Given the description of an element on the screen output the (x, y) to click on. 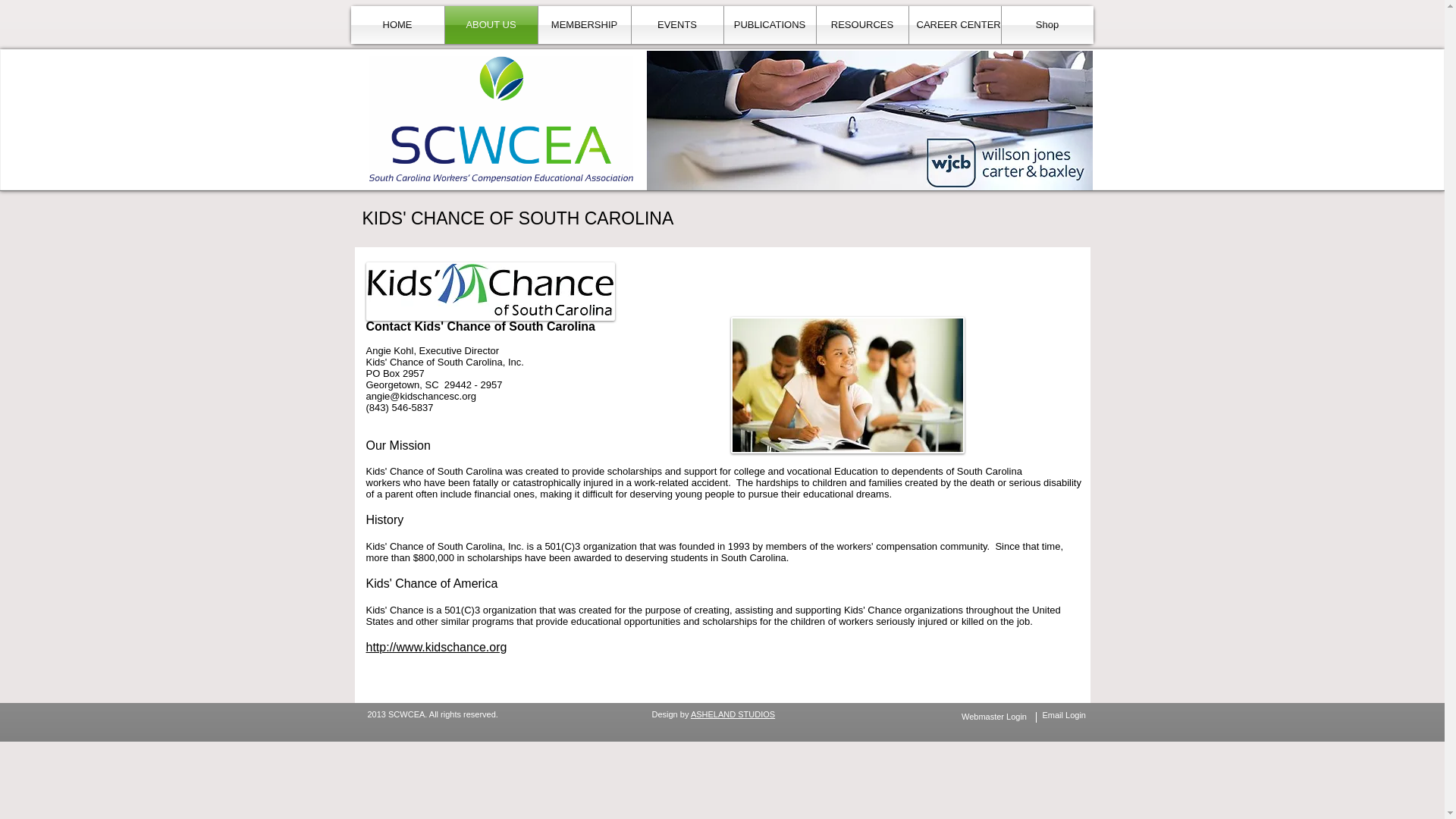
Email Login (1063, 714)
Webmaster Login (993, 716)
CAREER CENTER (954, 24)
EVENTS (676, 24)
aboutusimage.jpg (846, 384)
HOME (397, 24)
ABOUT US (490, 24)
PUBLICATIONS (769, 24)
RESOURCES (861, 24)
MEMBERSHIP (584, 24)
Shop (1047, 24)
ASHELAND STUDIOS (732, 714)
